Given the description of an element on the screen output the (x, y) to click on. 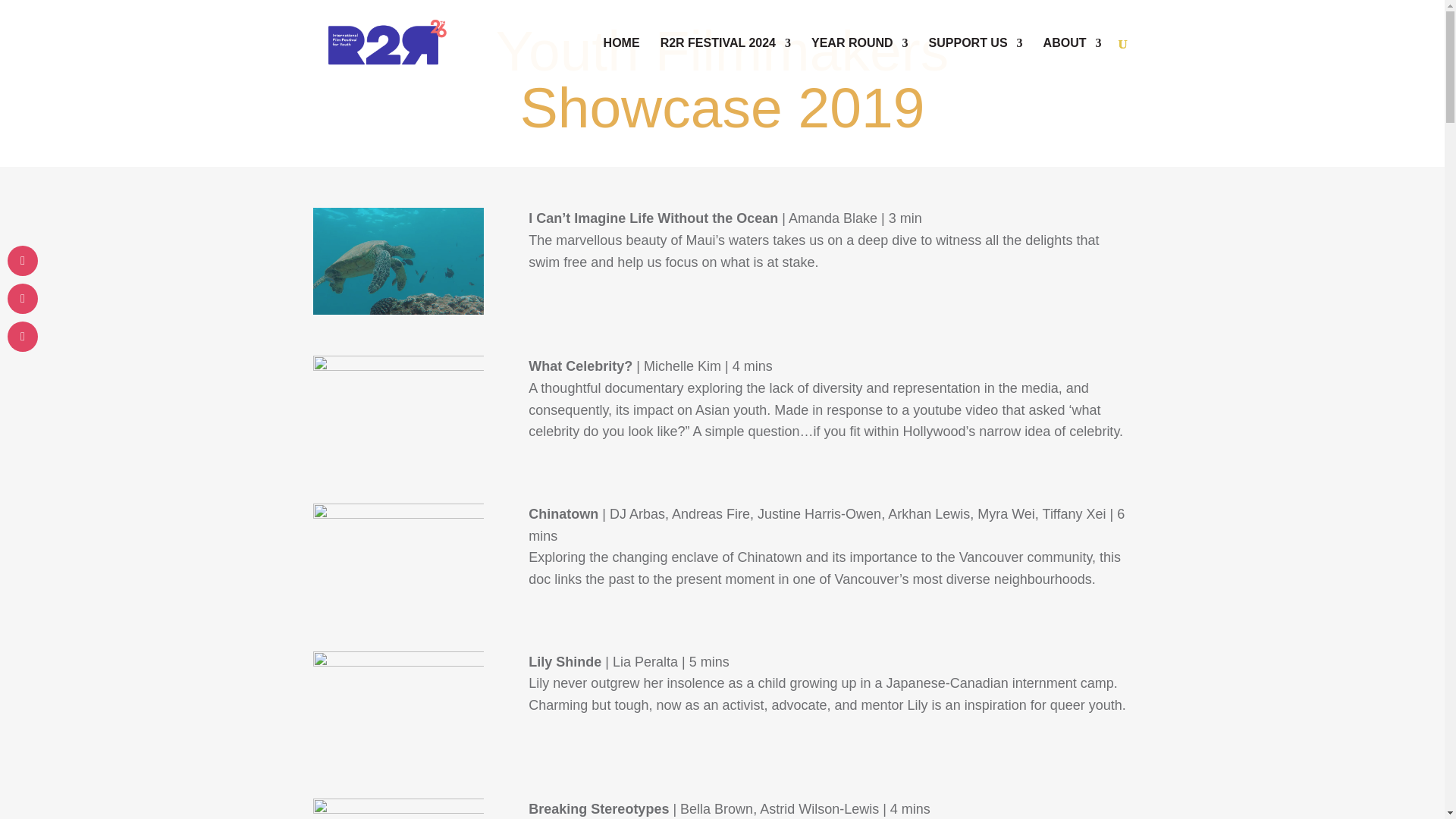
YEAR ROUND (859, 61)
ABOUT (1072, 61)
R2R FESTIVAL 2024 (725, 61)
SUPPORT US (975, 61)
HOME (622, 61)
